Given the description of an element on the screen output the (x, y) to click on. 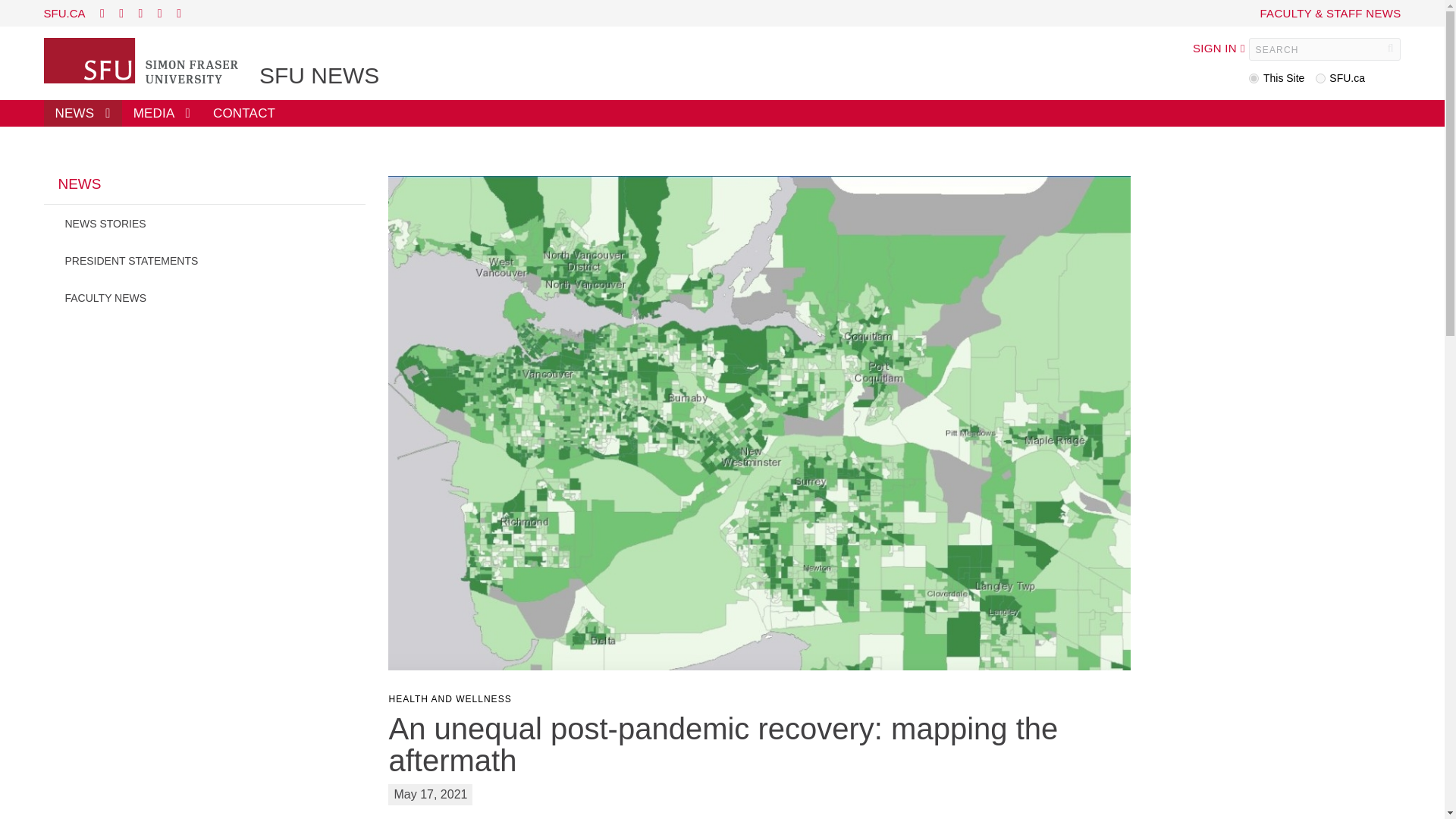
PRESIDENT STATEMENTS (204, 260)
SFU NEWS (318, 75)
NEWS STORIES (204, 222)
CONTACT (244, 112)
MEDIA (162, 112)
NEWS (82, 112)
SFU.CA (64, 11)
sfu (1320, 78)
FACULTY NEWS (204, 297)
site (1254, 78)
NEWS (204, 190)
